Given the description of an element on the screen output the (x, y) to click on. 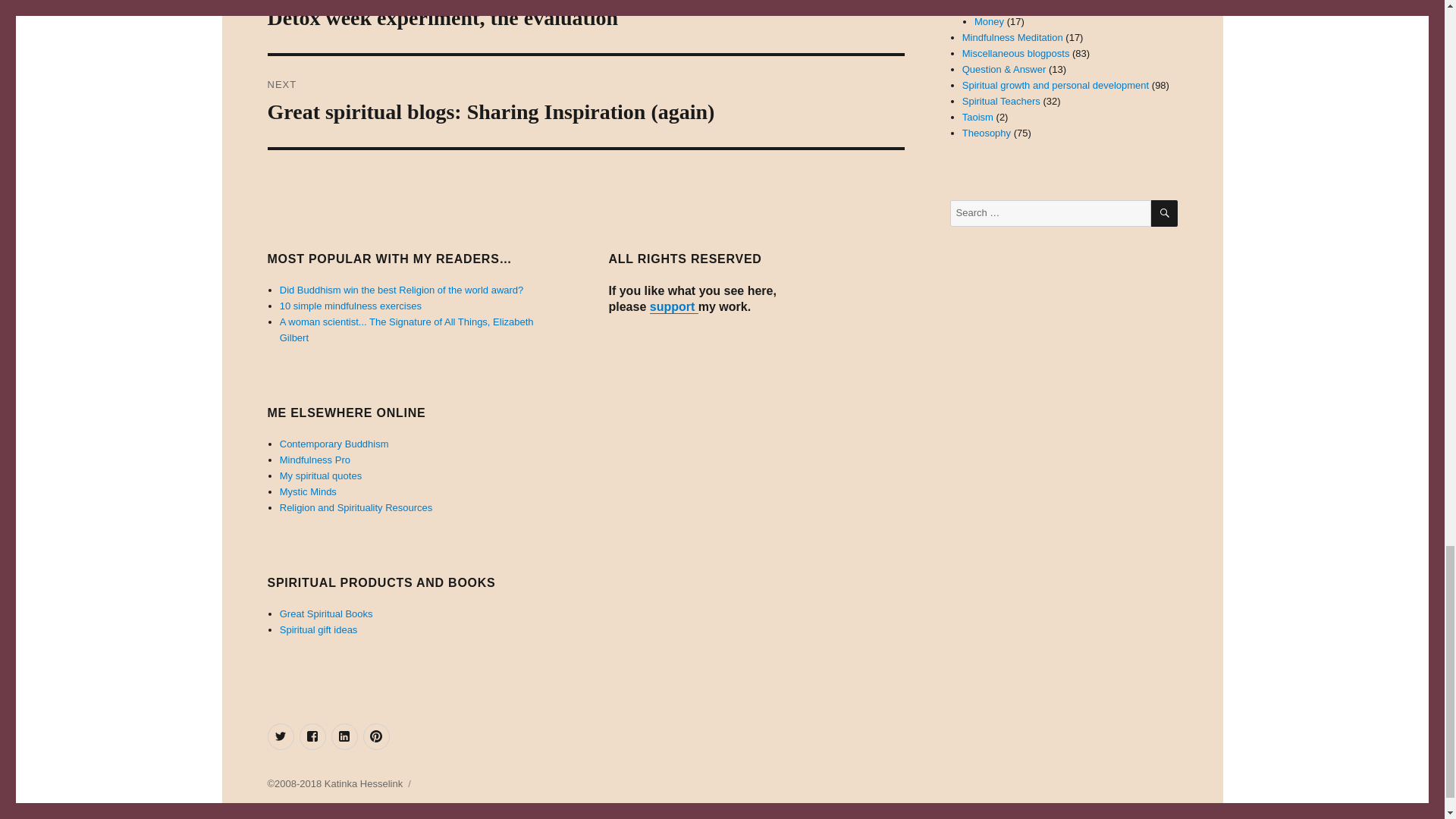
Contemporary Buddhism (333, 443)
Did Buddhism win the best Religion of the world award? (401, 289)
10 simple mindfulness exercises (350, 306)
